Given the description of an element on the screen output the (x, y) to click on. 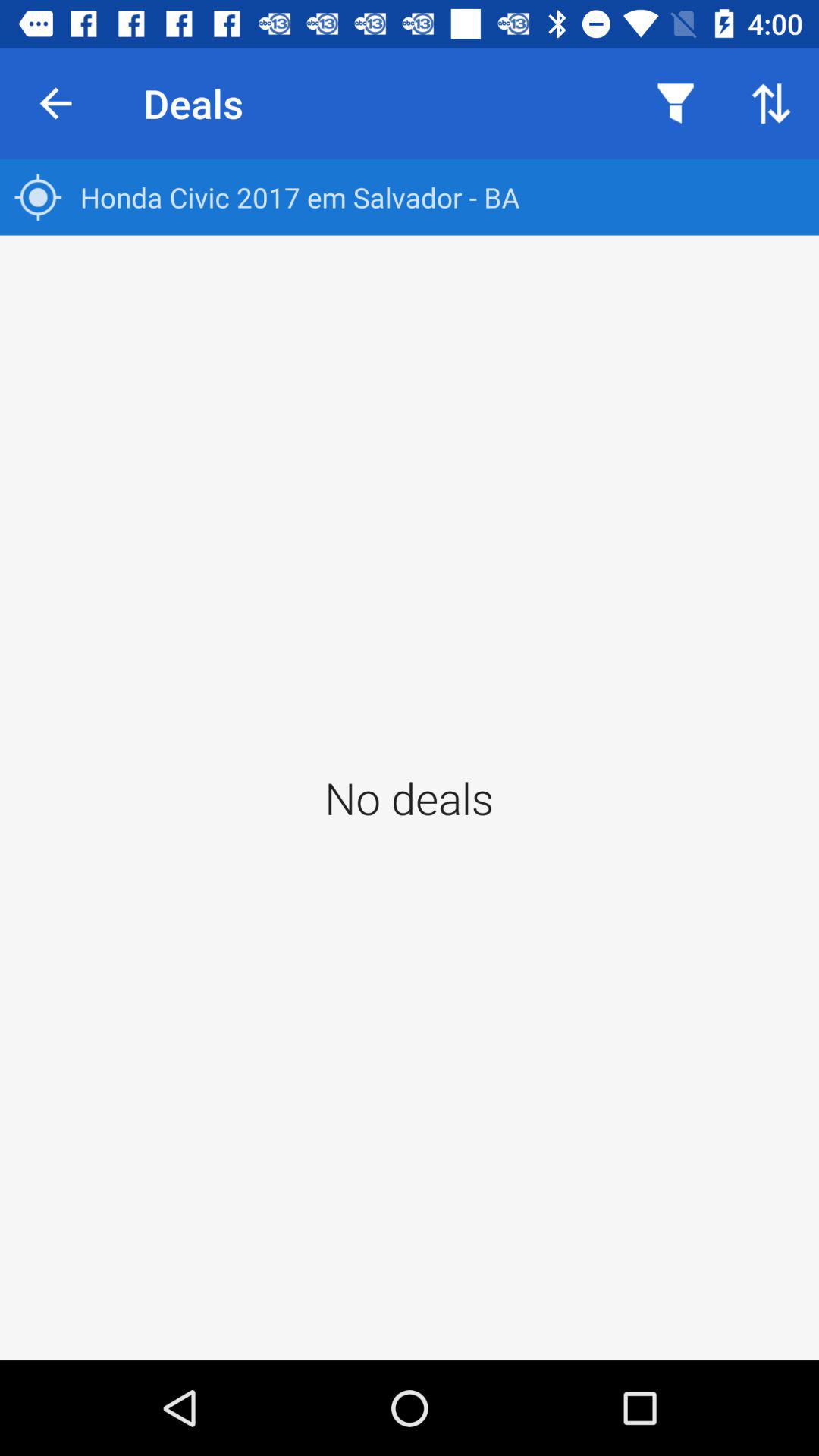
flip until honda civic 2017 item (409, 197)
